Given the description of an element on the screen output the (x, y) to click on. 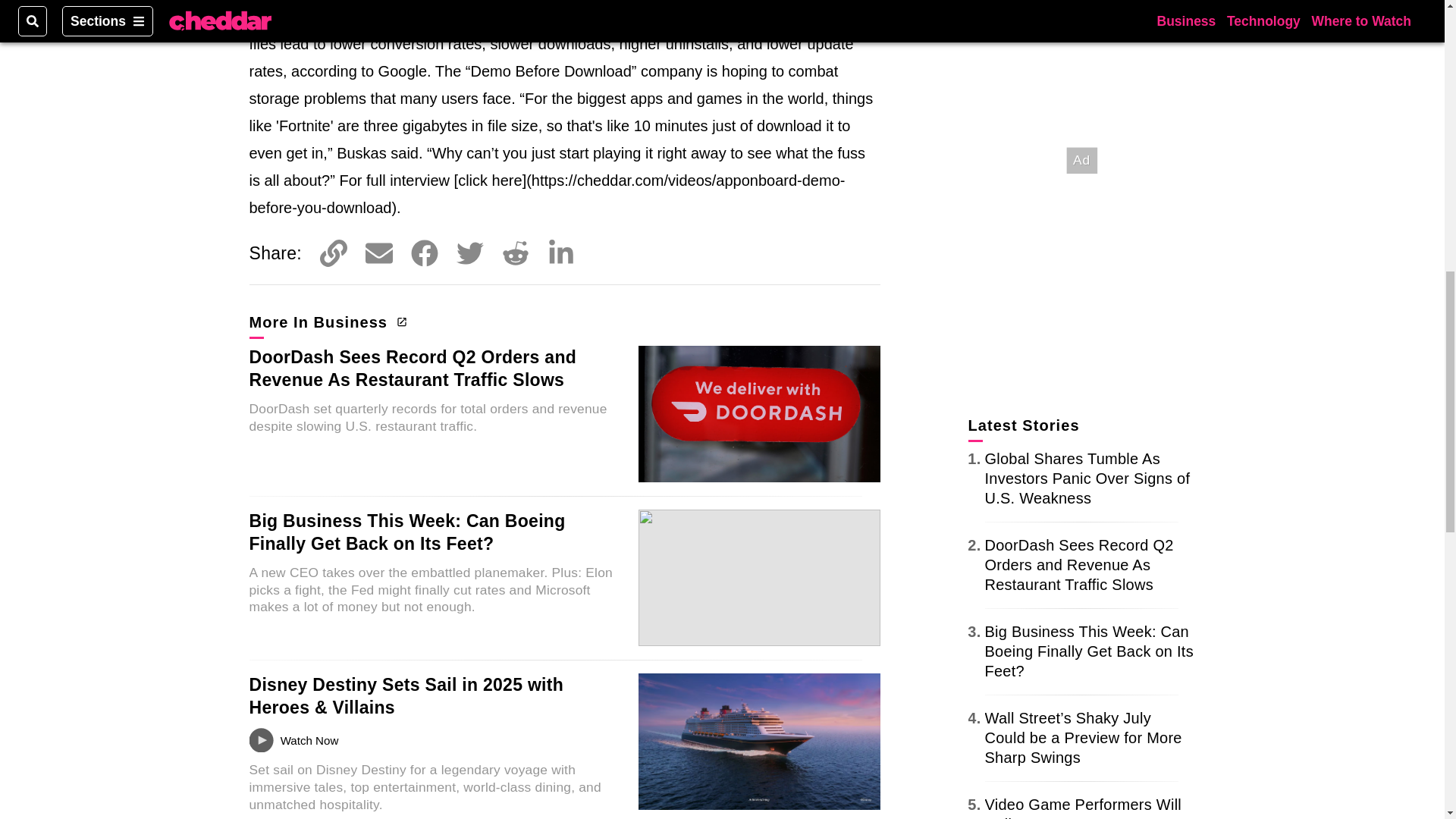
More In Business (325, 322)
